Given the description of an element on the screen output the (x, y) to click on. 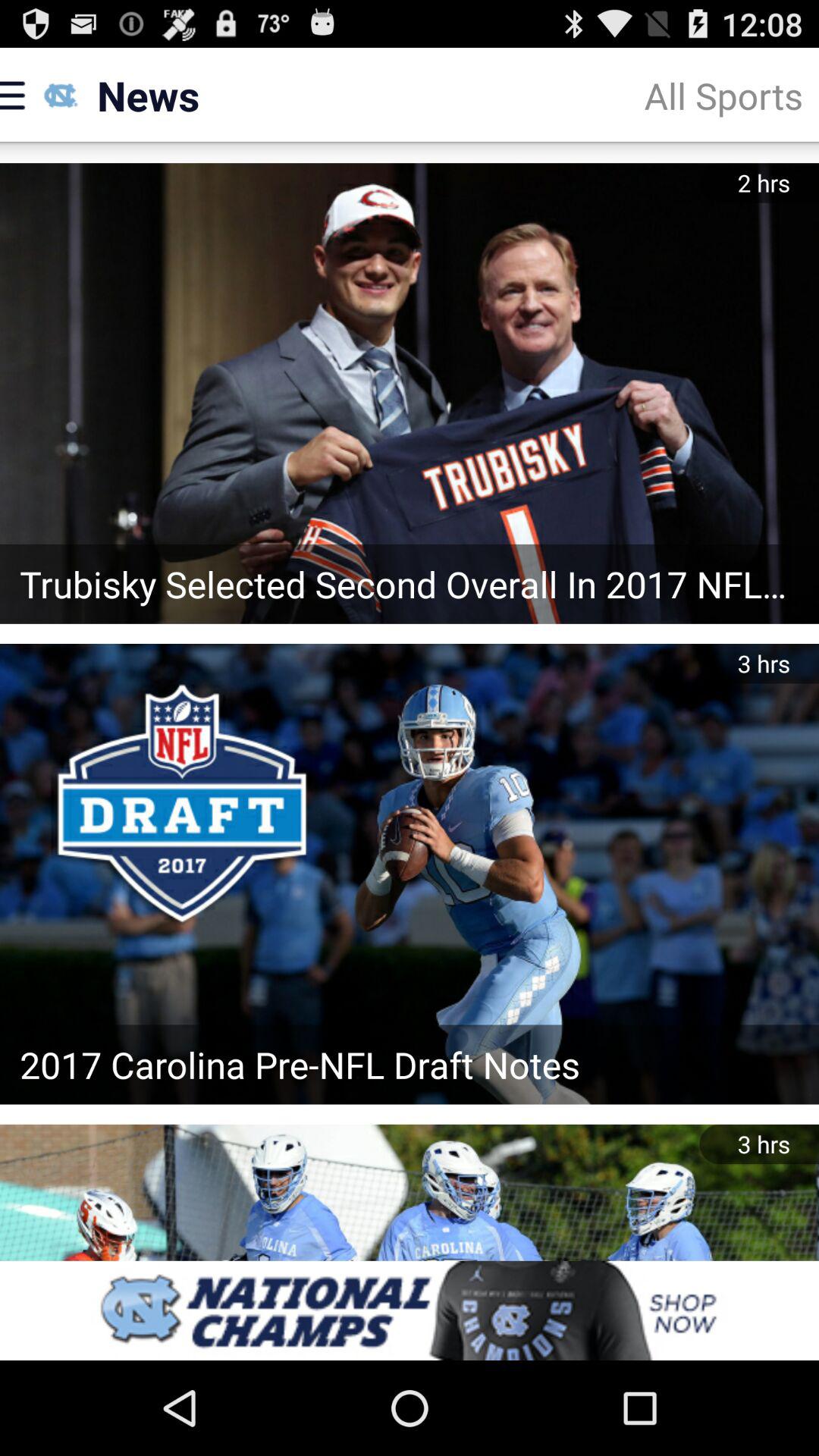
open advertisement (409, 1310)
